Given the description of an element on the screen output the (x, y) to click on. 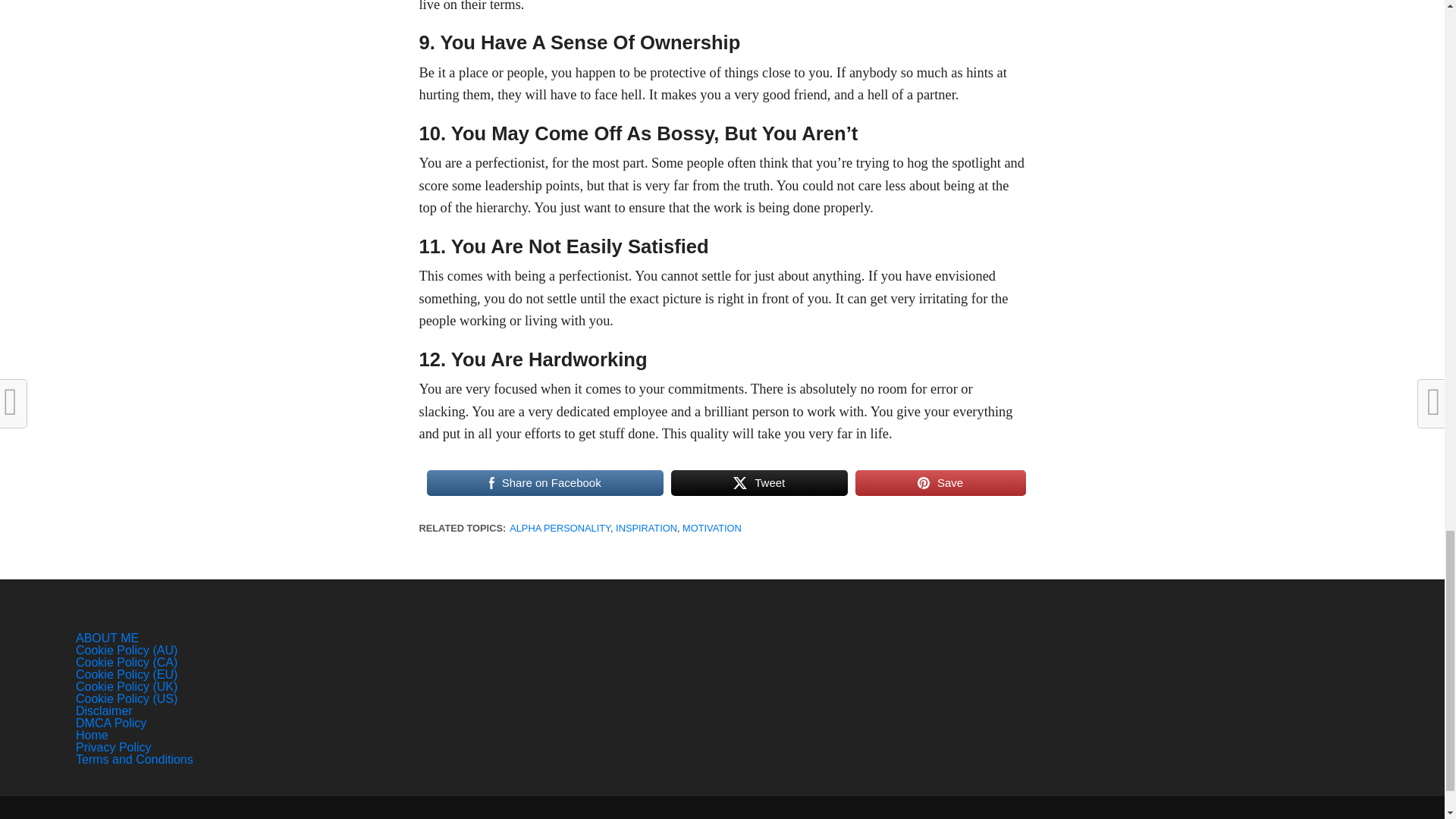
Save (941, 482)
ALPHA PERSONALITY (559, 527)
INSPIRATION (646, 527)
ABOUT ME (106, 637)
Share on Facebook (544, 482)
MOTIVATION (711, 527)
Tweet (759, 482)
